Given the description of an element on the screen output the (x, y) to click on. 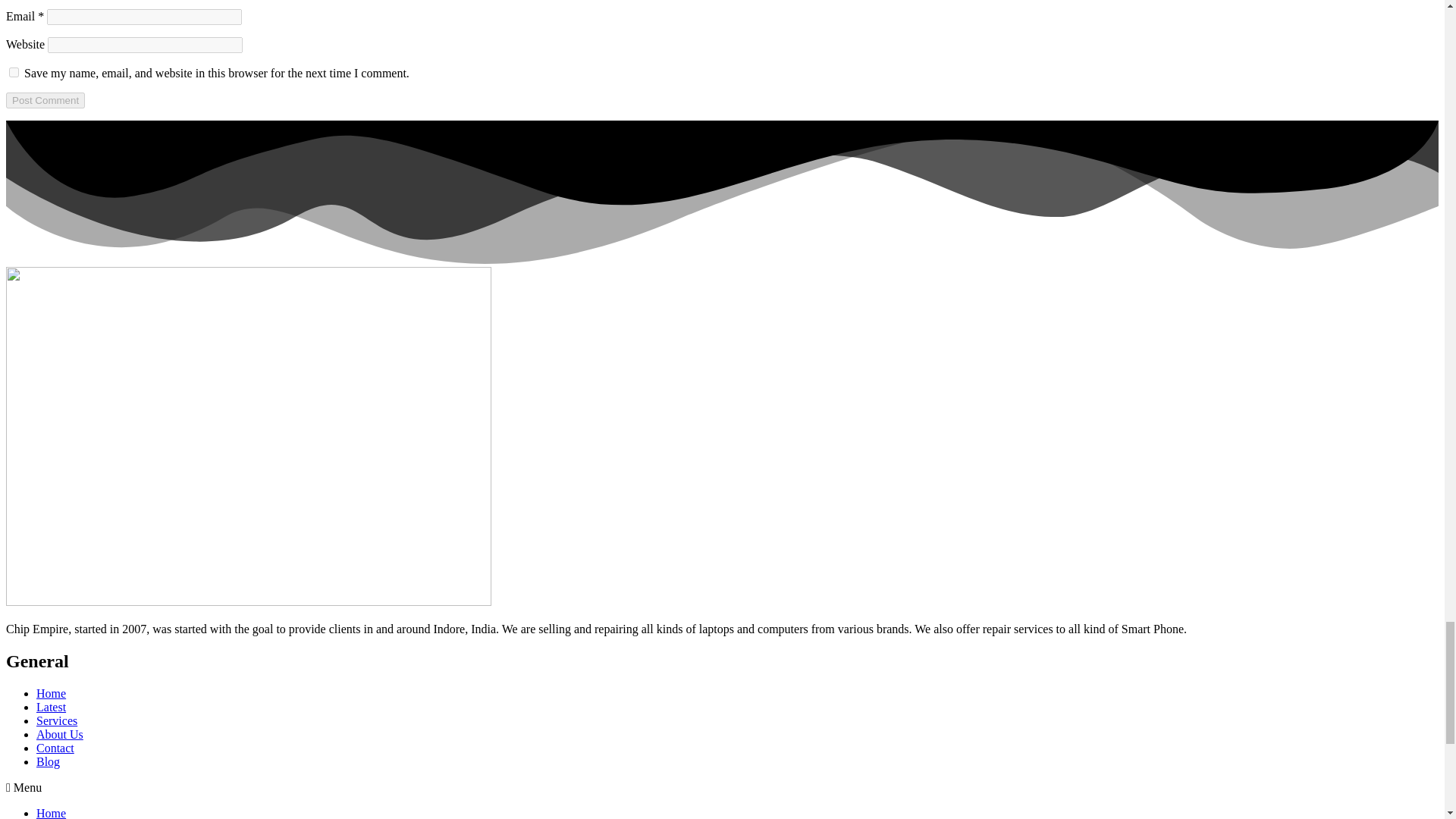
Post Comment (44, 100)
yes (13, 71)
